Given the description of an element on the screen output the (x, y) to click on. 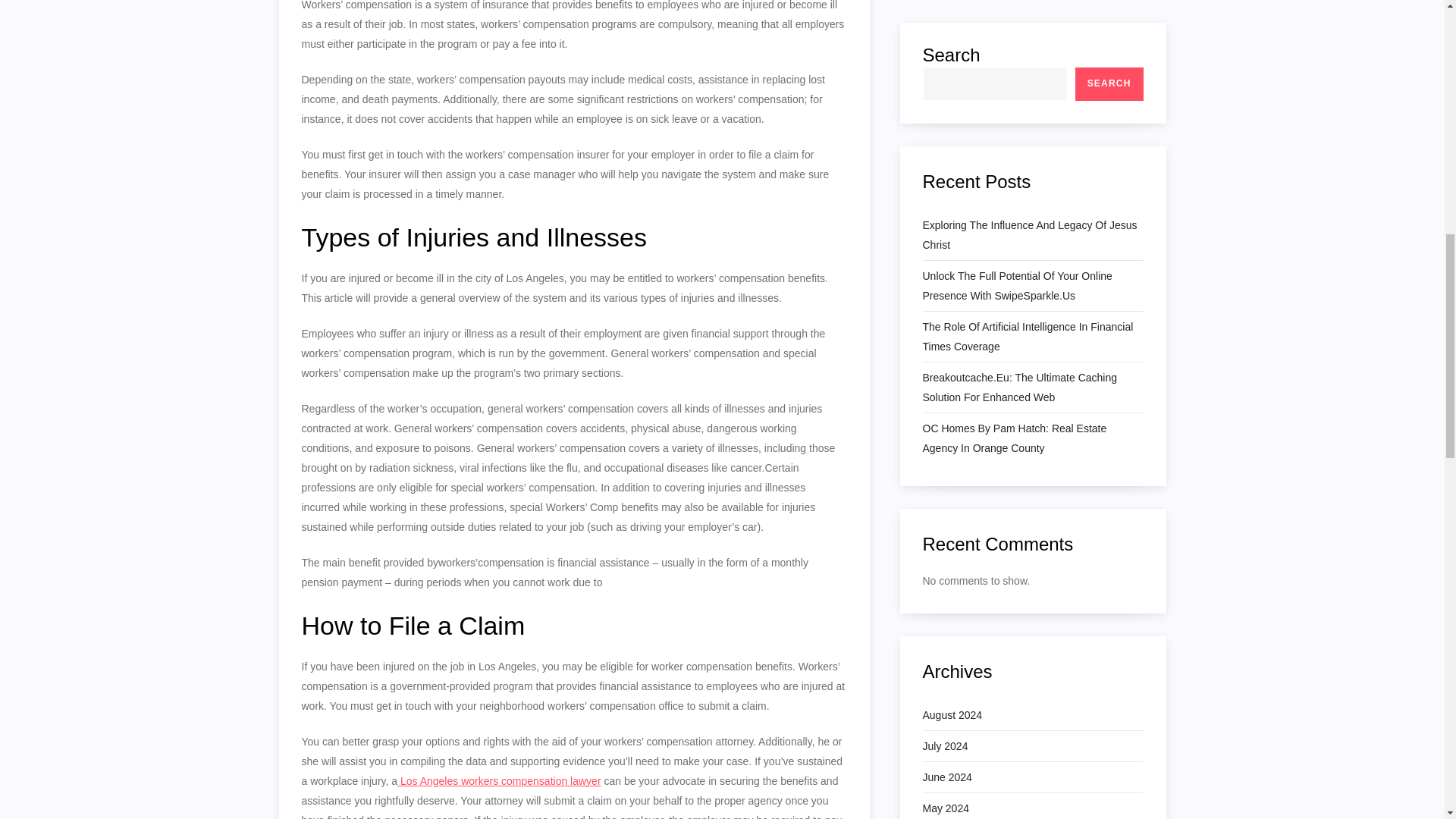
September 2023 (961, 384)
May 2024 (944, 136)
December 2023 (959, 291)
April 2024 (945, 167)
November 2023 (959, 322)
February 2024 (956, 229)
October 2023 (954, 353)
August 2023 (951, 415)
Biography (945, 587)
June 2024 (946, 105)
